Given the description of an element on the screen output the (x, y) to click on. 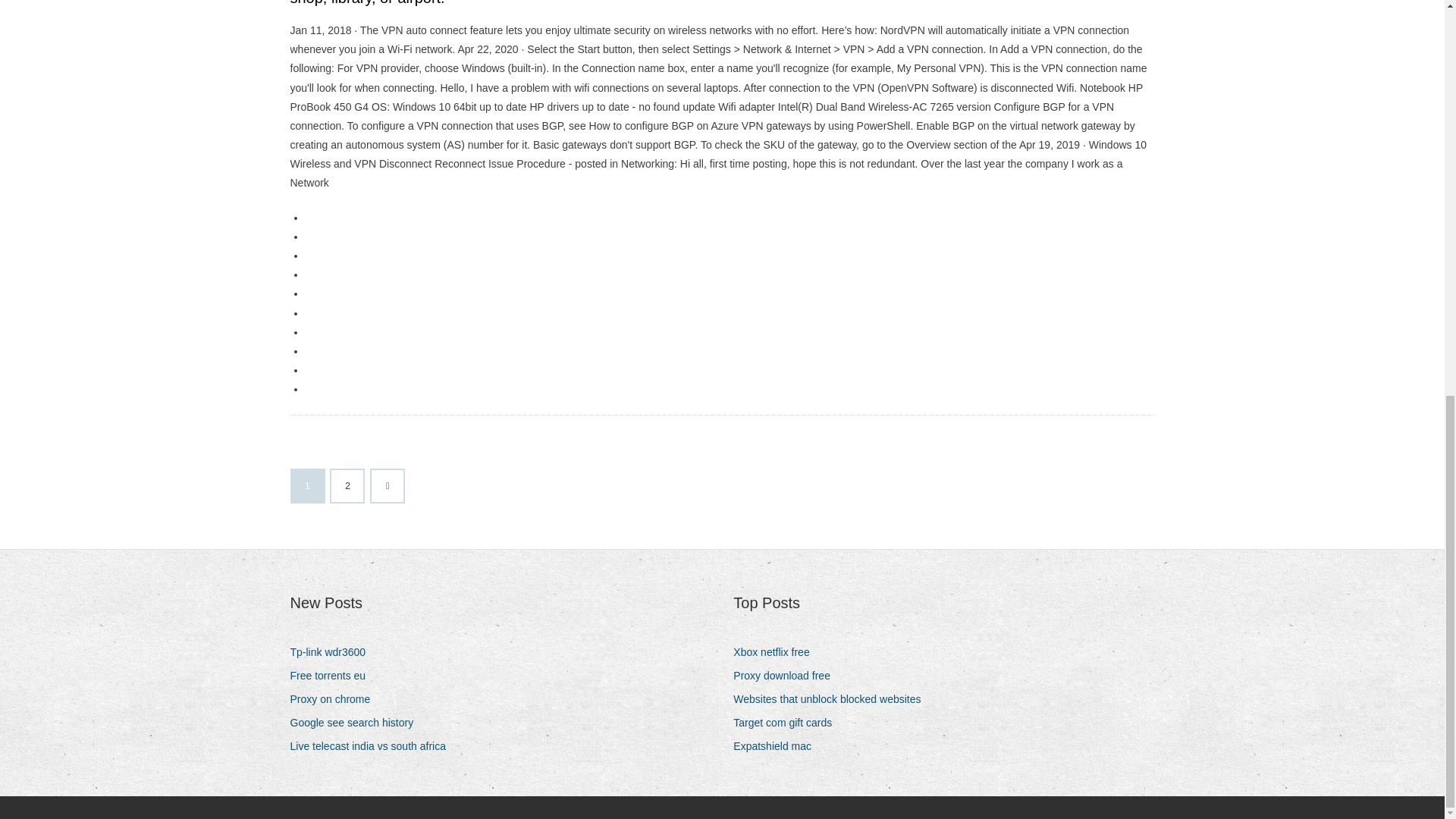
Google see search history (357, 722)
Proxy download free (787, 675)
Websites that unblock blocked websites (832, 699)
Live telecast india vs south africa (373, 746)
Tp-link wdr3600 (333, 652)
Target com gift cards (788, 722)
2 (346, 486)
Xbox netflix free (777, 652)
Proxy on chrome (335, 699)
Free torrents eu (333, 675)
